Given the description of an element on the screen output the (x, y) to click on. 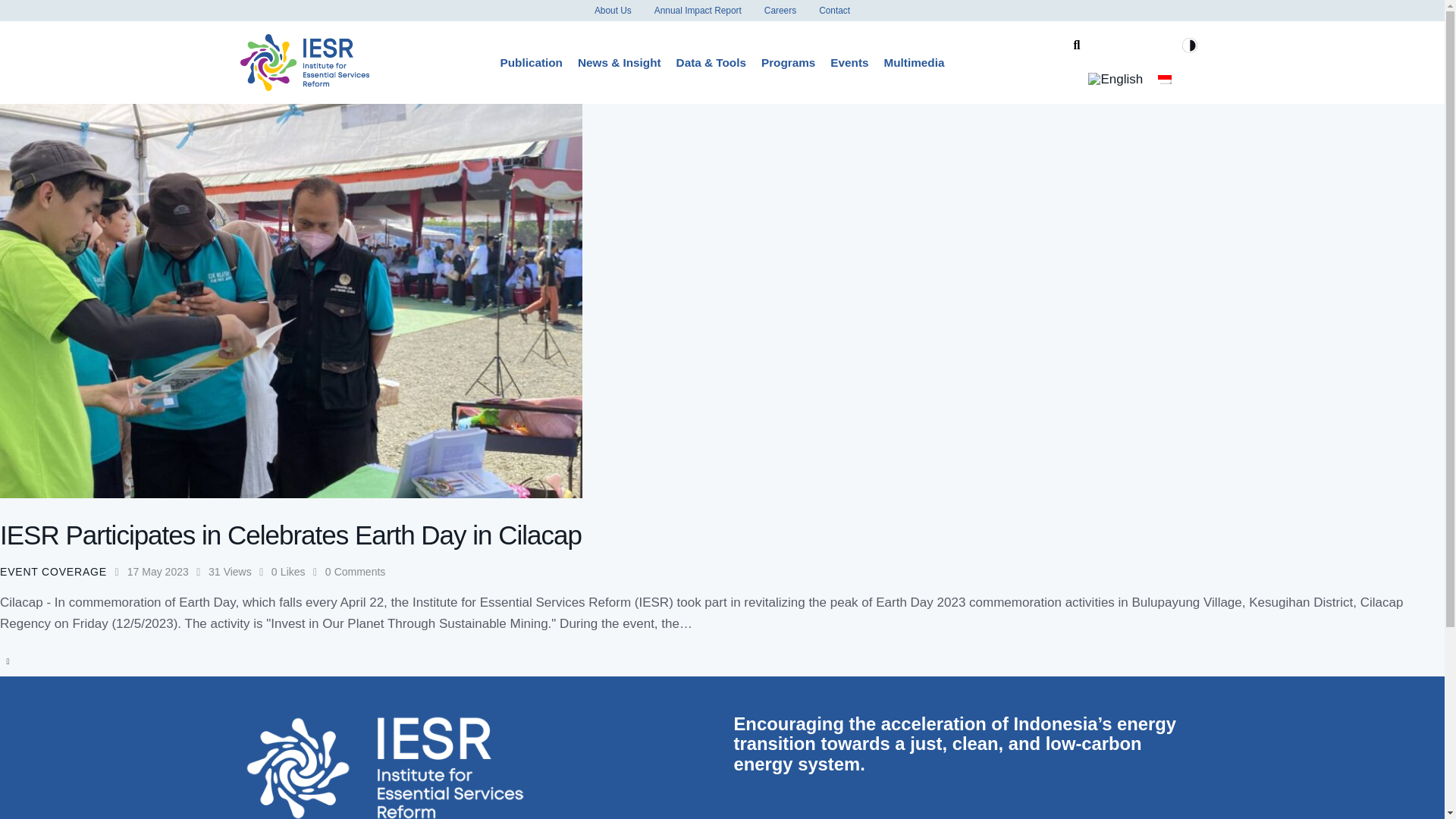
Events (849, 62)
About Us (613, 10)
Programs (788, 62)
Like (297, 571)
Annual Impact Report (697, 10)
Publication (532, 62)
Multimedia (913, 62)
Careers (780, 10)
Contact (834, 10)
